Given the description of an element on the screen output the (x, y) to click on. 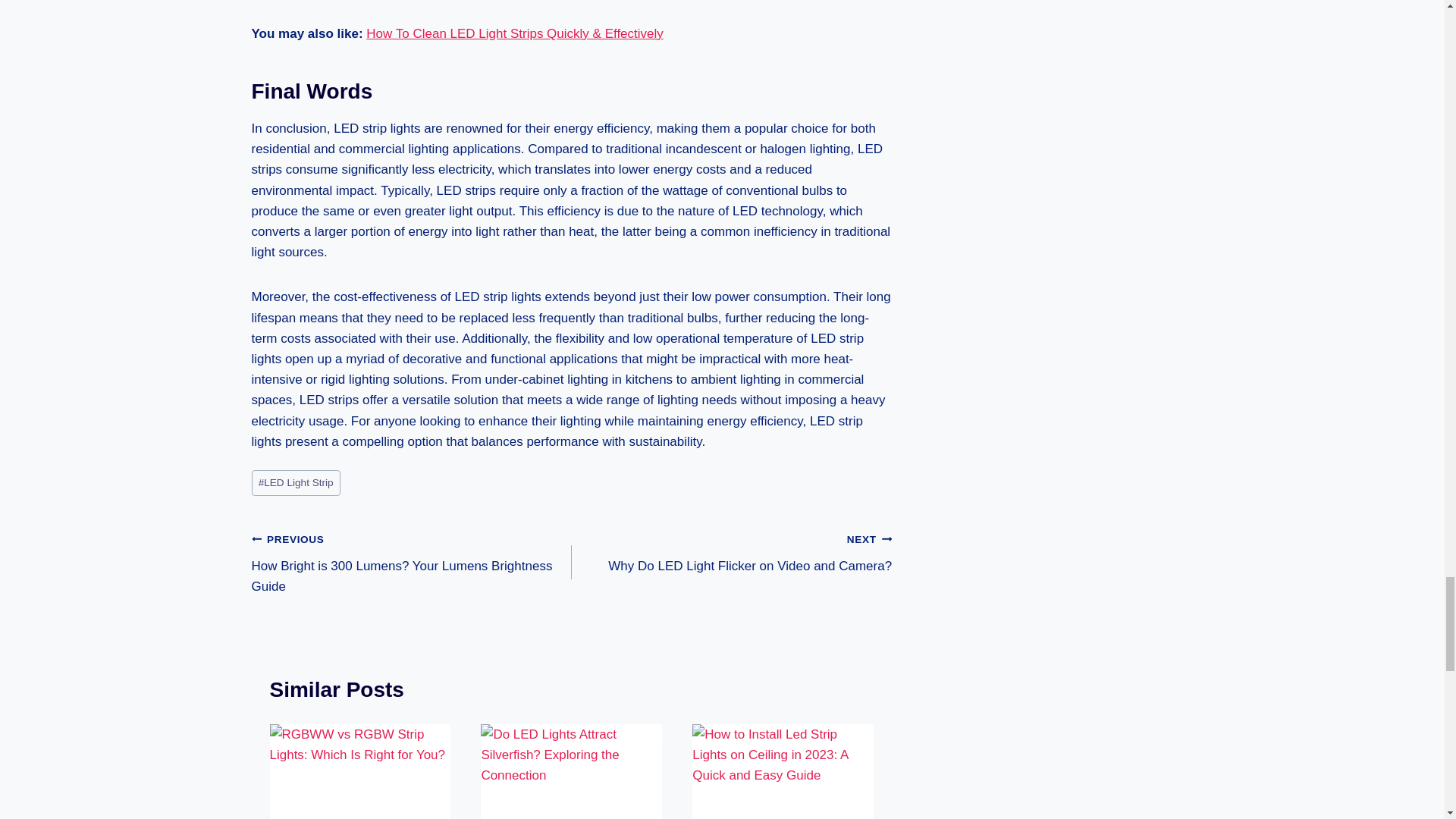
LED Light Strip (295, 483)
